Given the description of an element on the screen output the (x, y) to click on. 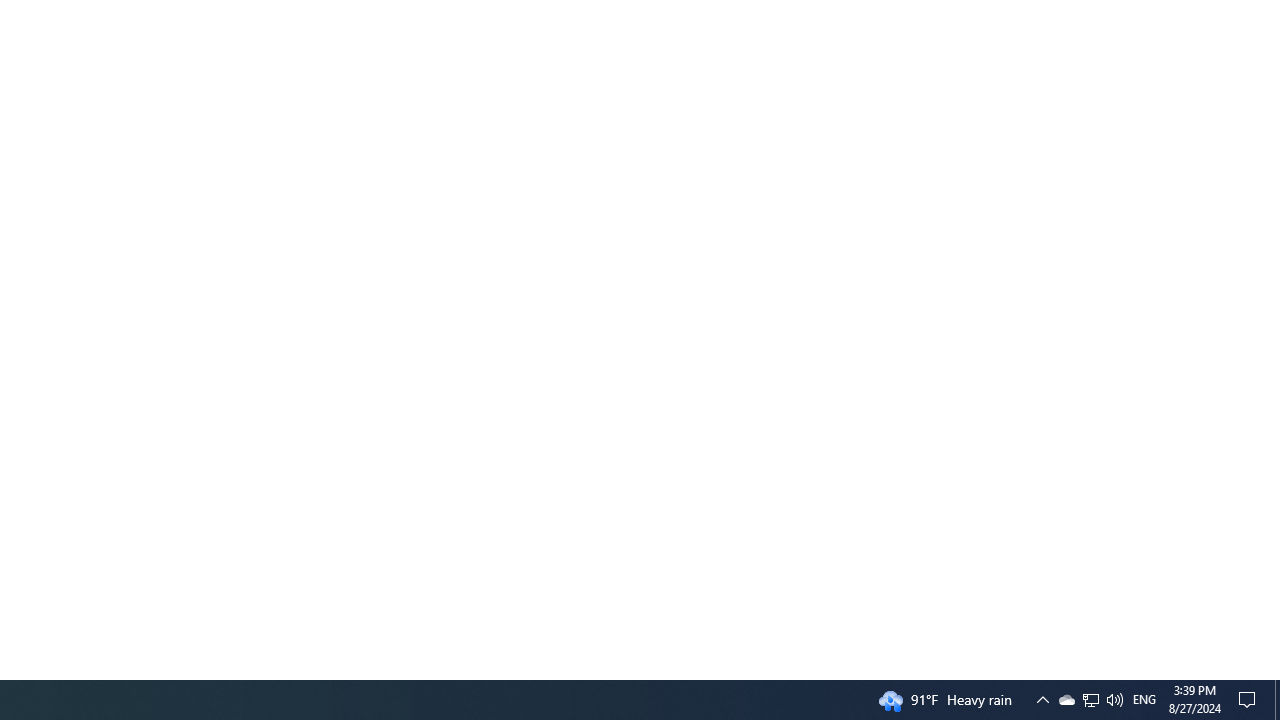
Q2790: 100% (1091, 699)
Show desktop (1114, 699)
User Promoted Notification Area (1277, 699)
Notification Chevron (1090, 699)
Action Center, No new notifications (1042, 699)
Tray Input Indicator - English (United States) (1250, 699)
